Given the description of an element on the screen output the (x, y) to click on. 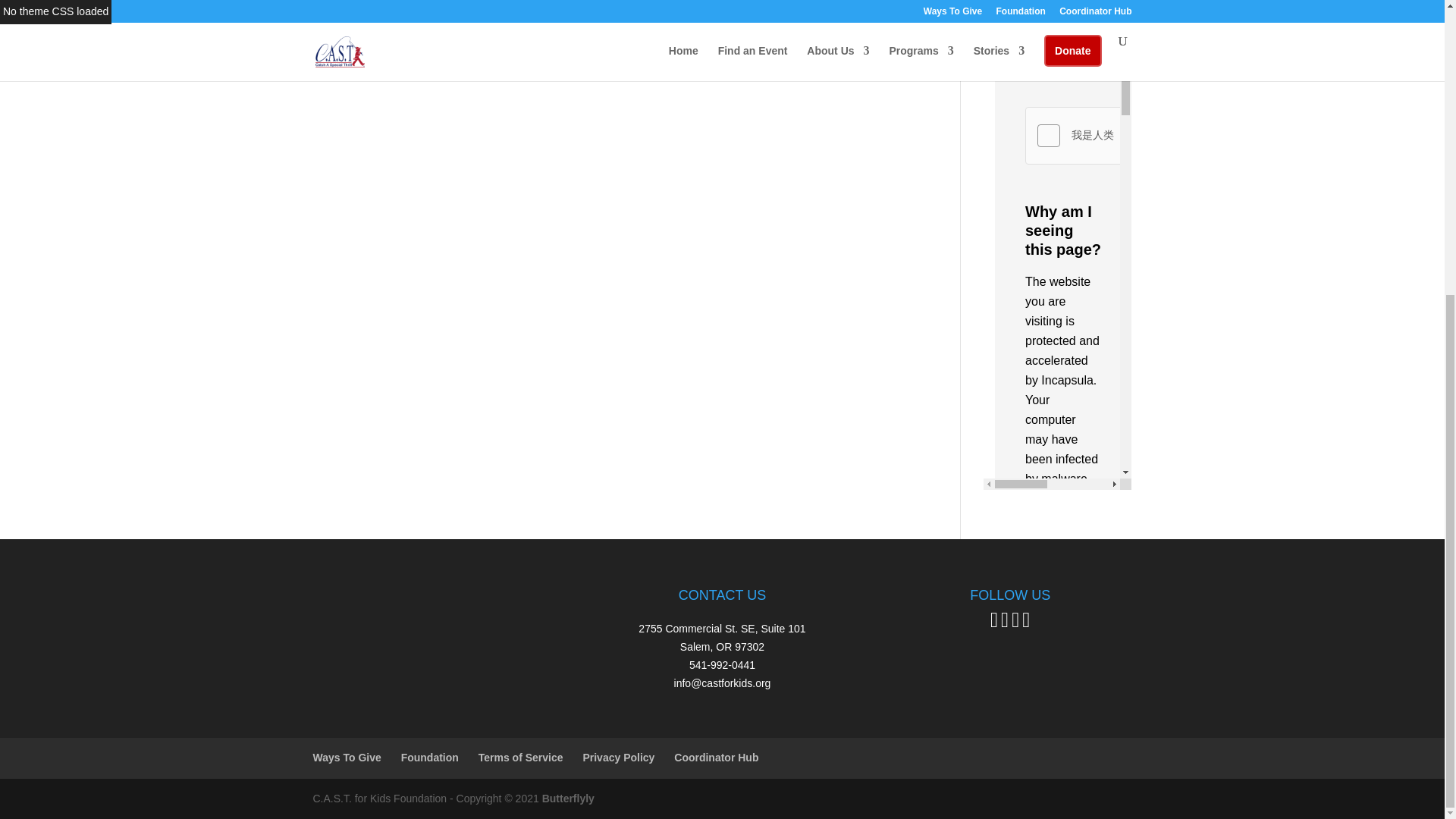
541-992-0441 (721, 664)
